Given the description of an element on the screen output the (x, y) to click on. 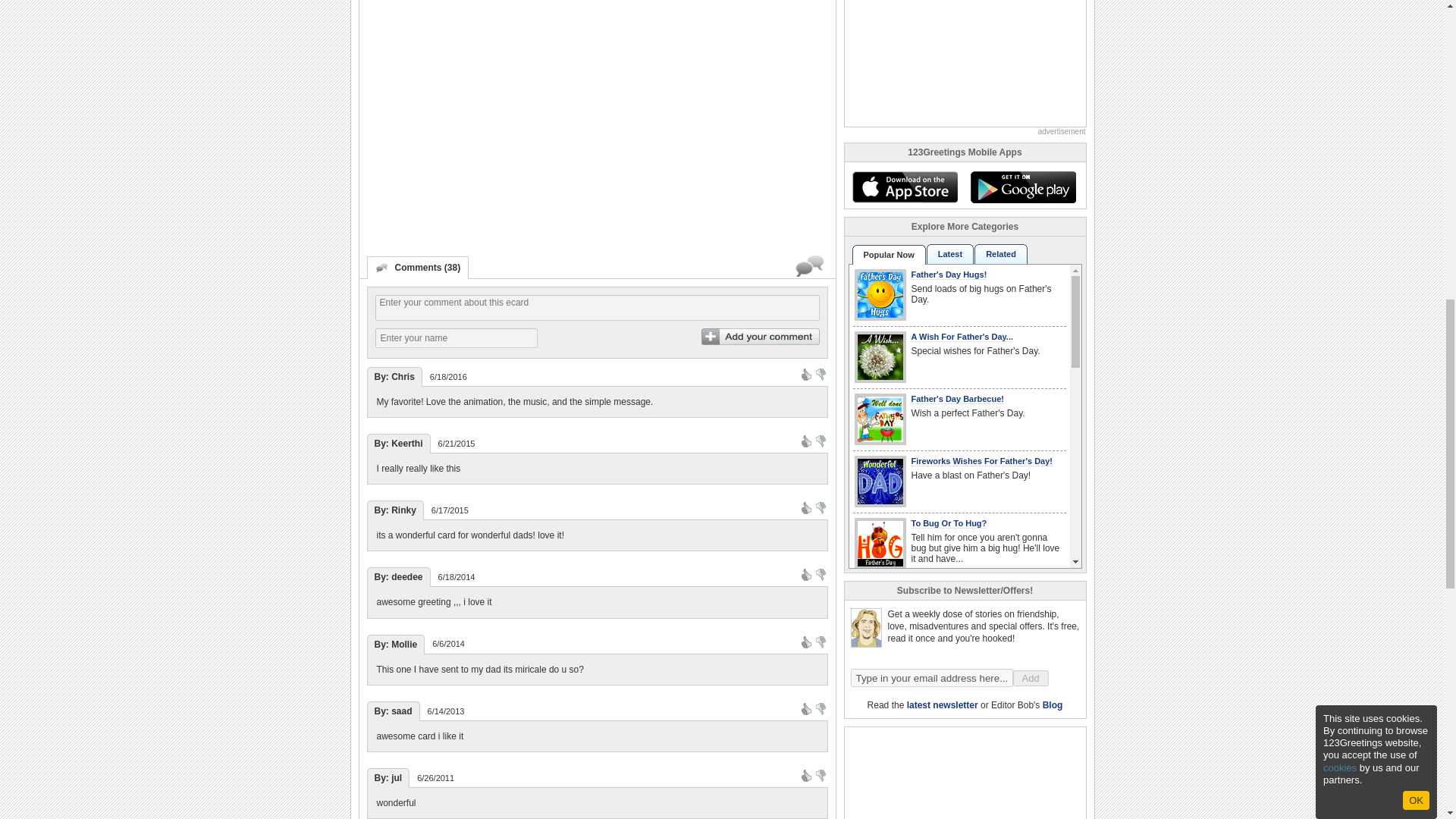
Type in your email address here... (931, 678)
